Given the description of an element on the screen output the (x, y) to click on. 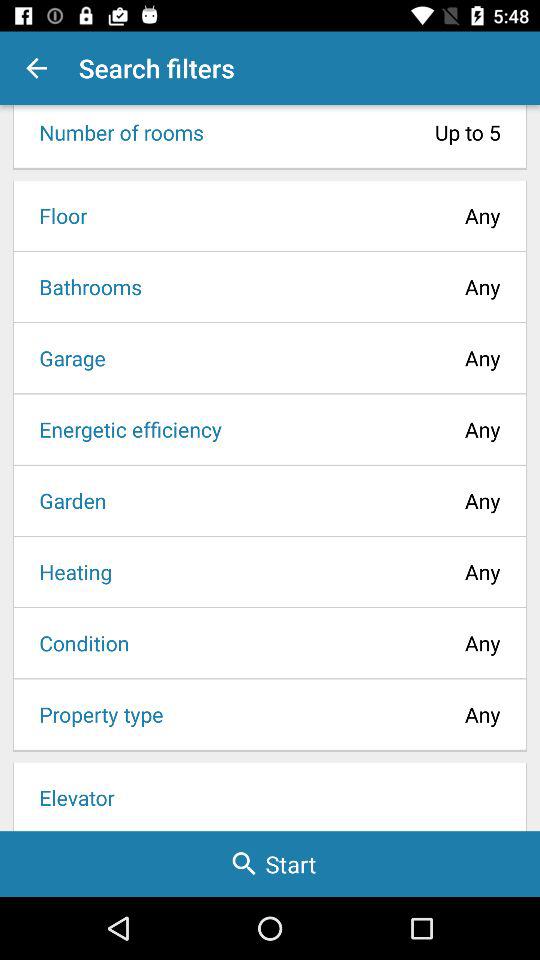
jump to heating icon (69, 571)
